Given the description of an element on the screen output the (x, y) to click on. 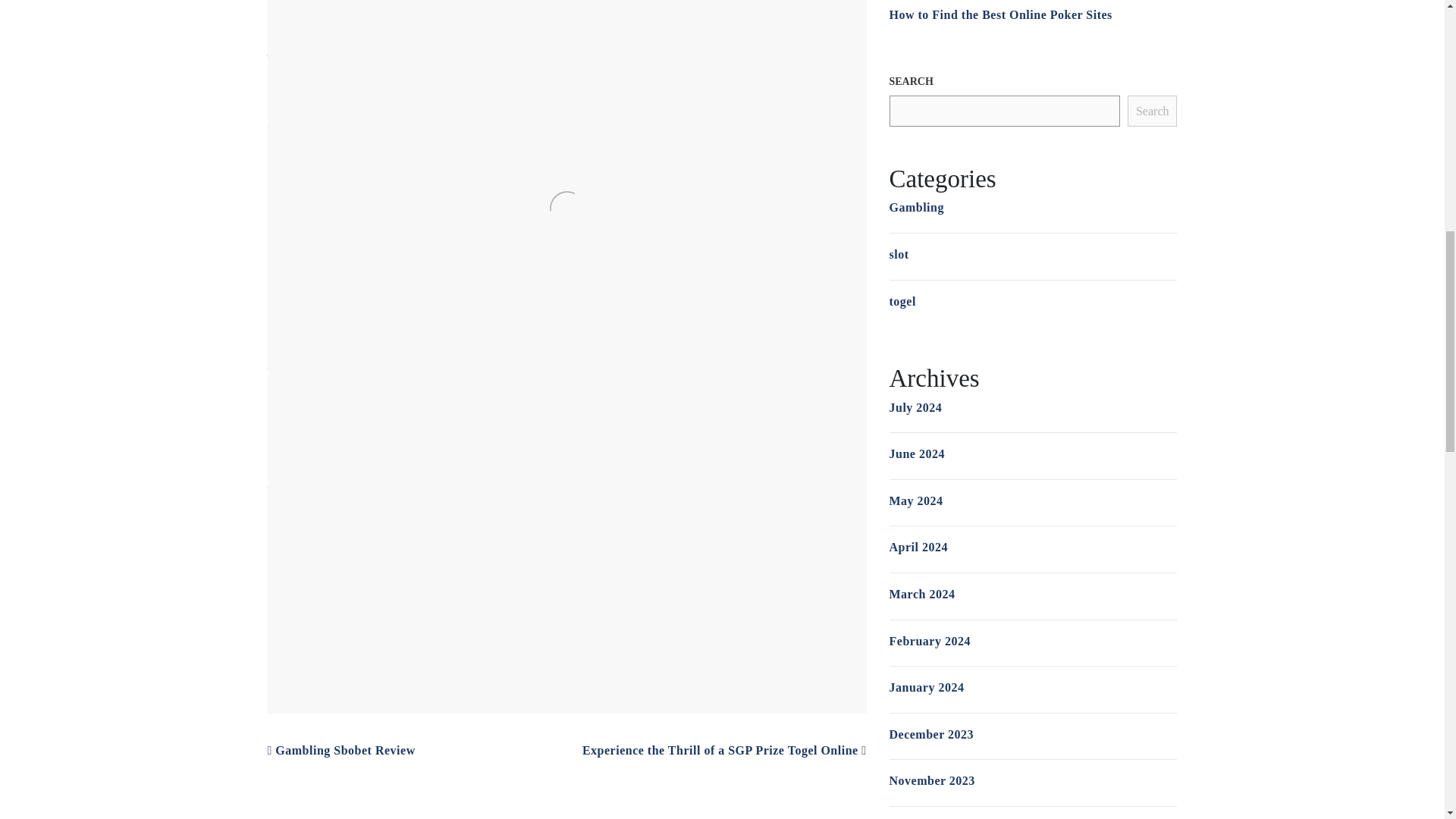
January 2024 (925, 686)
February 2024 (928, 640)
March 2024 (921, 594)
Search (1151, 110)
slot (898, 254)
Gambling (915, 206)
May 2024 (915, 500)
November 2023 (931, 780)
December 2023 (931, 734)
July 2024 (915, 407)
June 2024 (915, 453)
togel (901, 300)
Gambling Sbobet Review (340, 749)
Experience the Thrill of a SGP Prize Togel Online (724, 749)
April 2024 (917, 546)
